Given the description of an element on the screen output the (x, y) to click on. 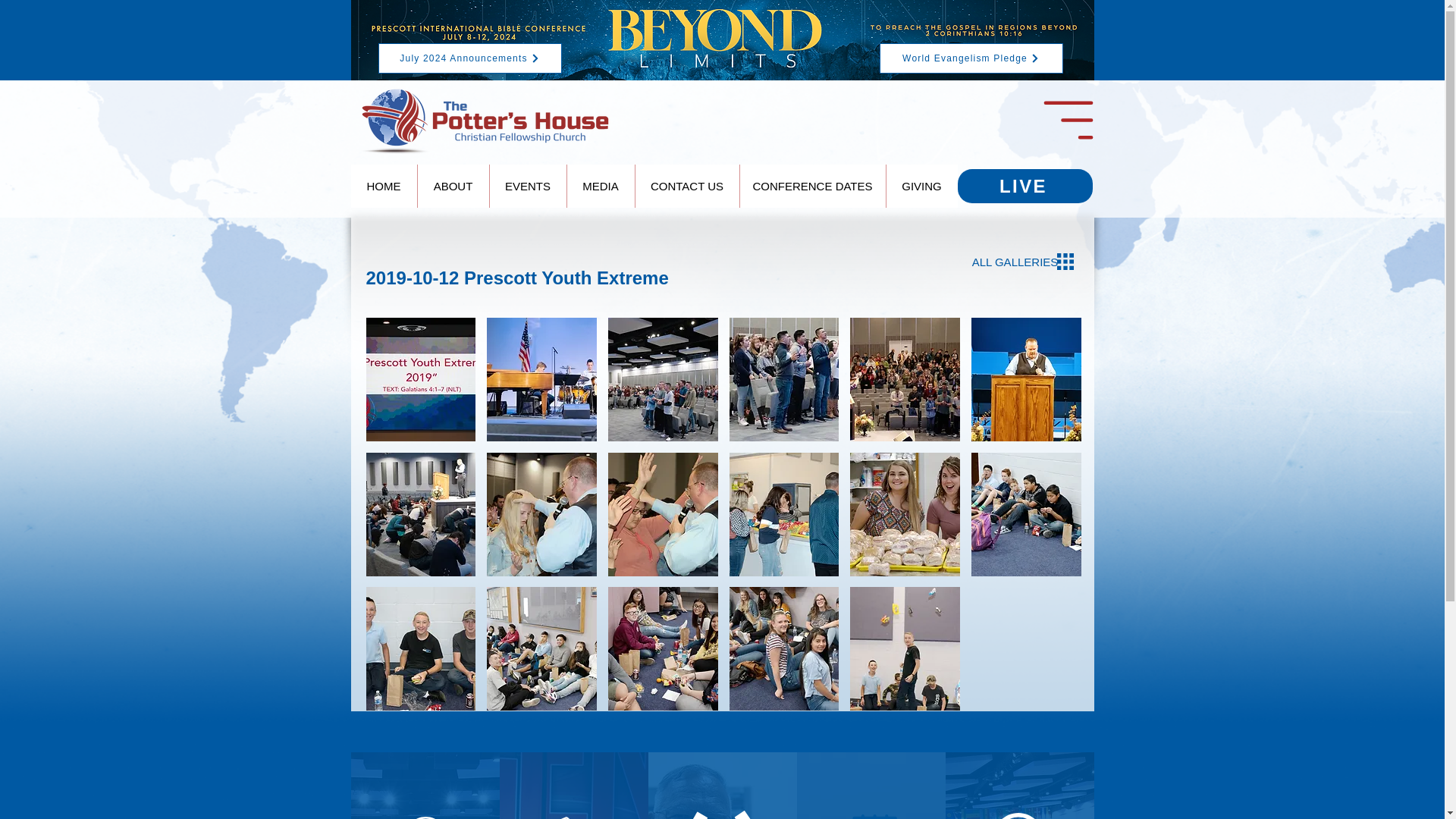
LIVE (1024, 185)
MEDIA (599, 186)
HOME (383, 186)
GIVING (921, 186)
ALL GALLERIES (1015, 262)
EVENTS (526, 186)
CONFERENCE DATES (811, 186)
CONTACT US (685, 186)
July 2024 Announcements (468, 58)
World Evangelism Pledge (970, 58)
